Given the description of an element on the screen output the (x, y) to click on. 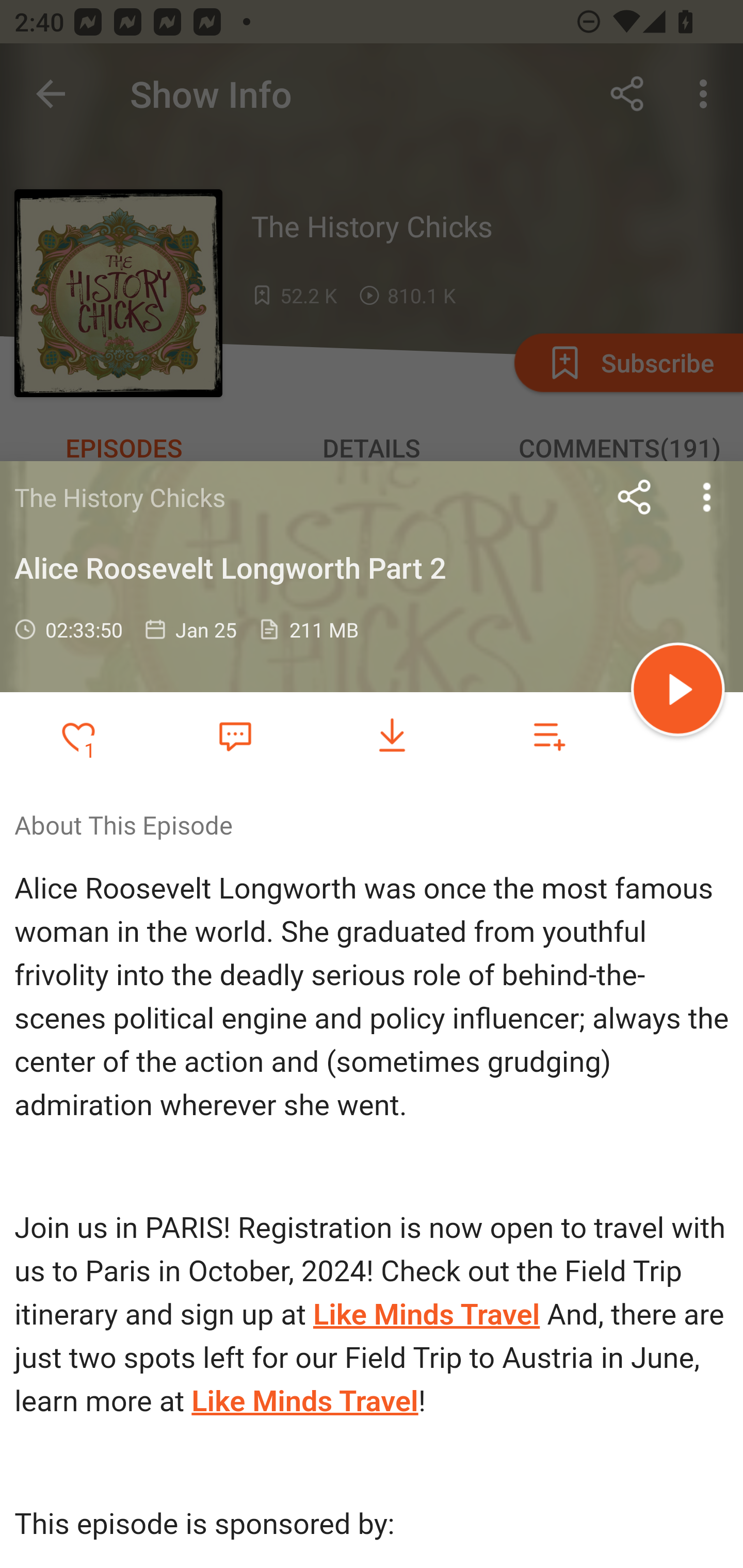
Share (634, 496)
more options (706, 496)
Play (677, 692)
Favorite (234, 735)
Add to Favorites (78, 735)
Download (391, 735)
Add to playlist (548, 735)
Like Minds Travel (426, 1314)
Like Minds Travel (305, 1400)
